Given the description of an element on the screen output the (x, y) to click on. 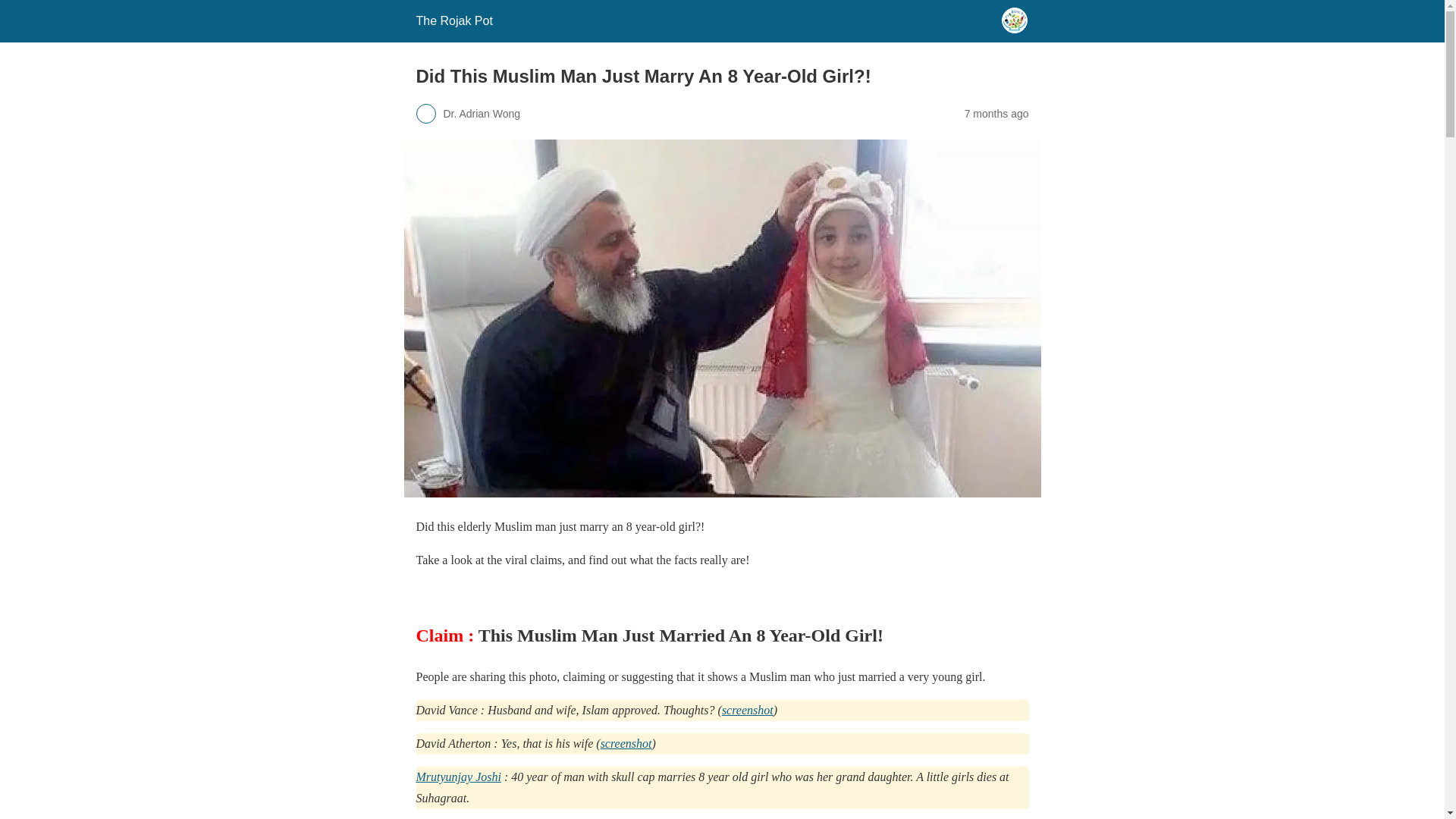
The Rojak Pot (453, 20)
Mrutyunjay Joshi (457, 776)
screenshot (747, 709)
screenshot (625, 743)
